Given the description of an element on the screen output the (x, y) to click on. 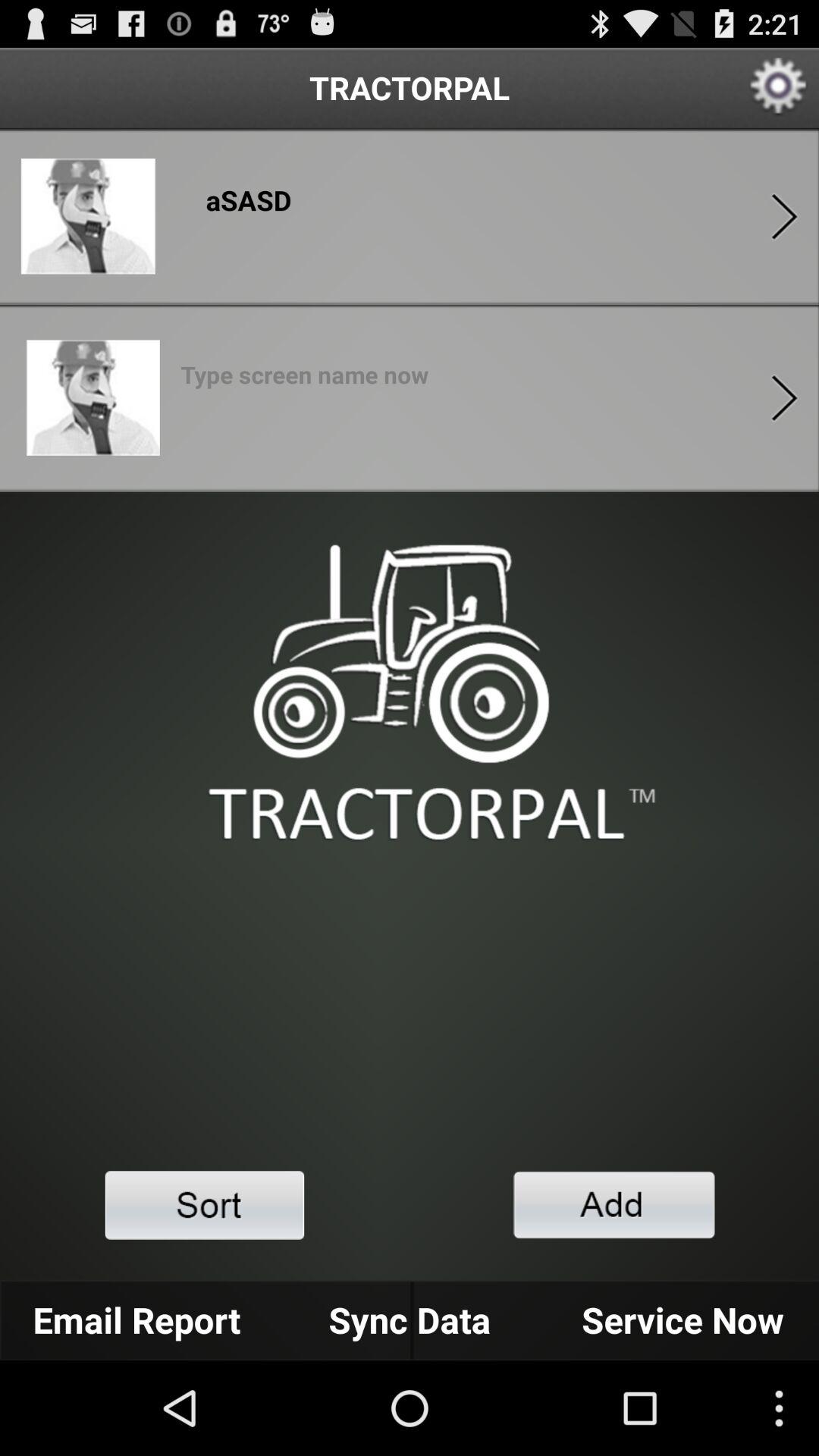
next (784, 216)
